Given the description of an element on the screen output the (x, y) to click on. 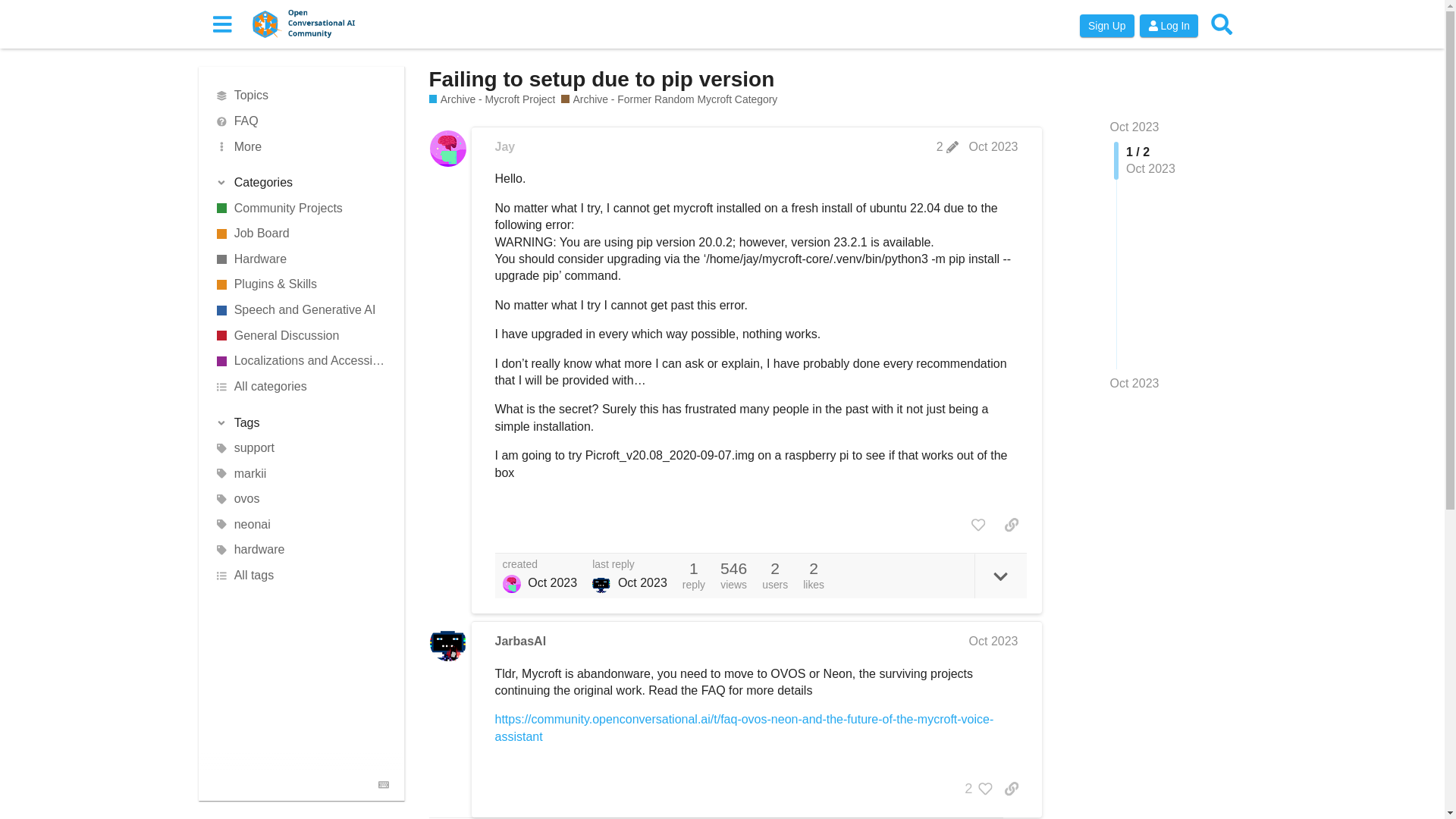
Job Board (301, 234)
General Discussion (301, 335)
markii (301, 473)
Keyboard Shortcuts (384, 784)
2 (946, 146)
Categories (301, 182)
Log In (1168, 25)
Oct 2023 (1133, 126)
Topics (301, 95)
Speech and Generative AI (301, 309)
